Given the description of an element on the screen output the (x, y) to click on. 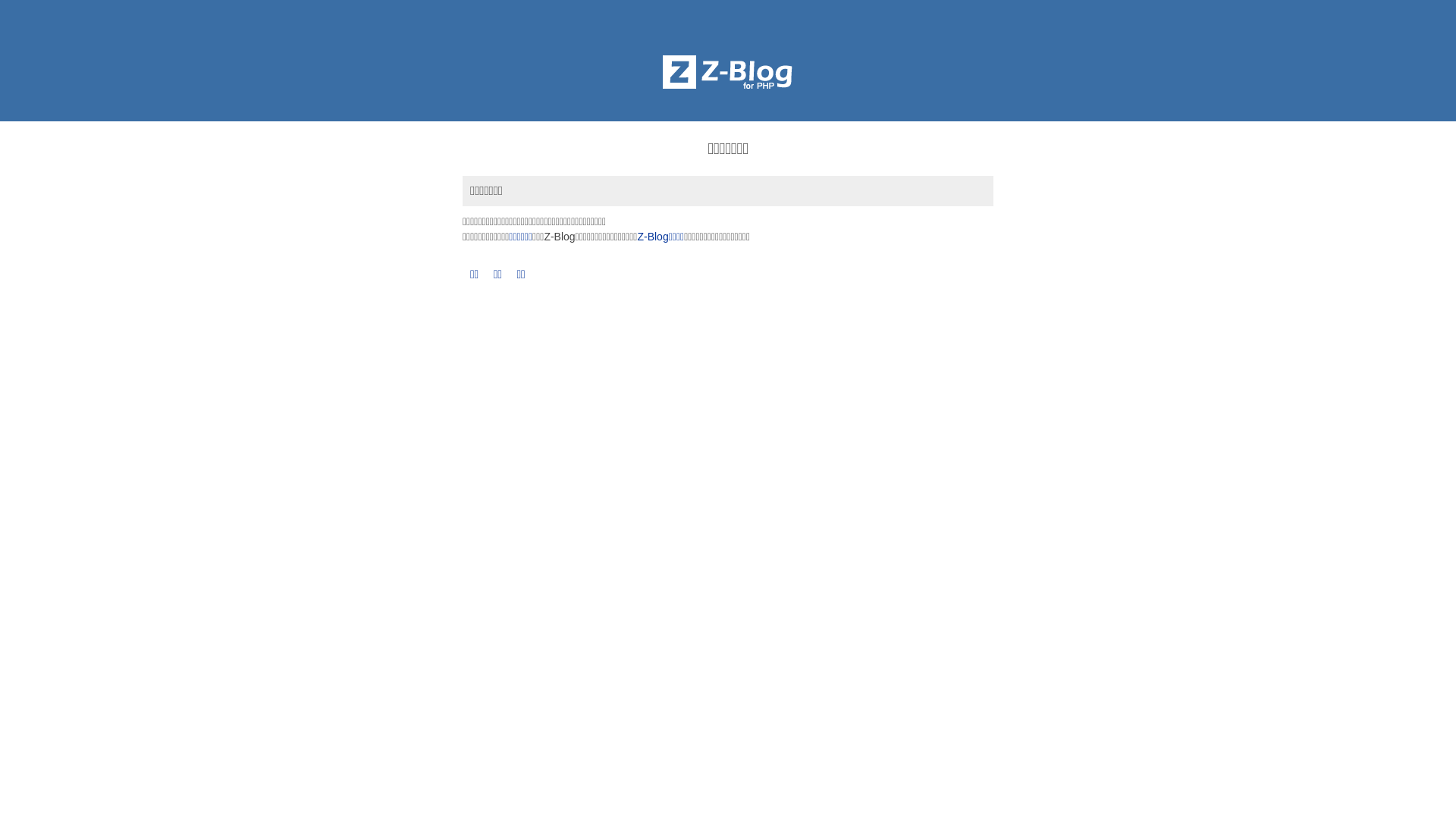
Z-BlogPHP Element type: hover (727, 71)
